Given the description of an element on the screen output the (x, y) to click on. 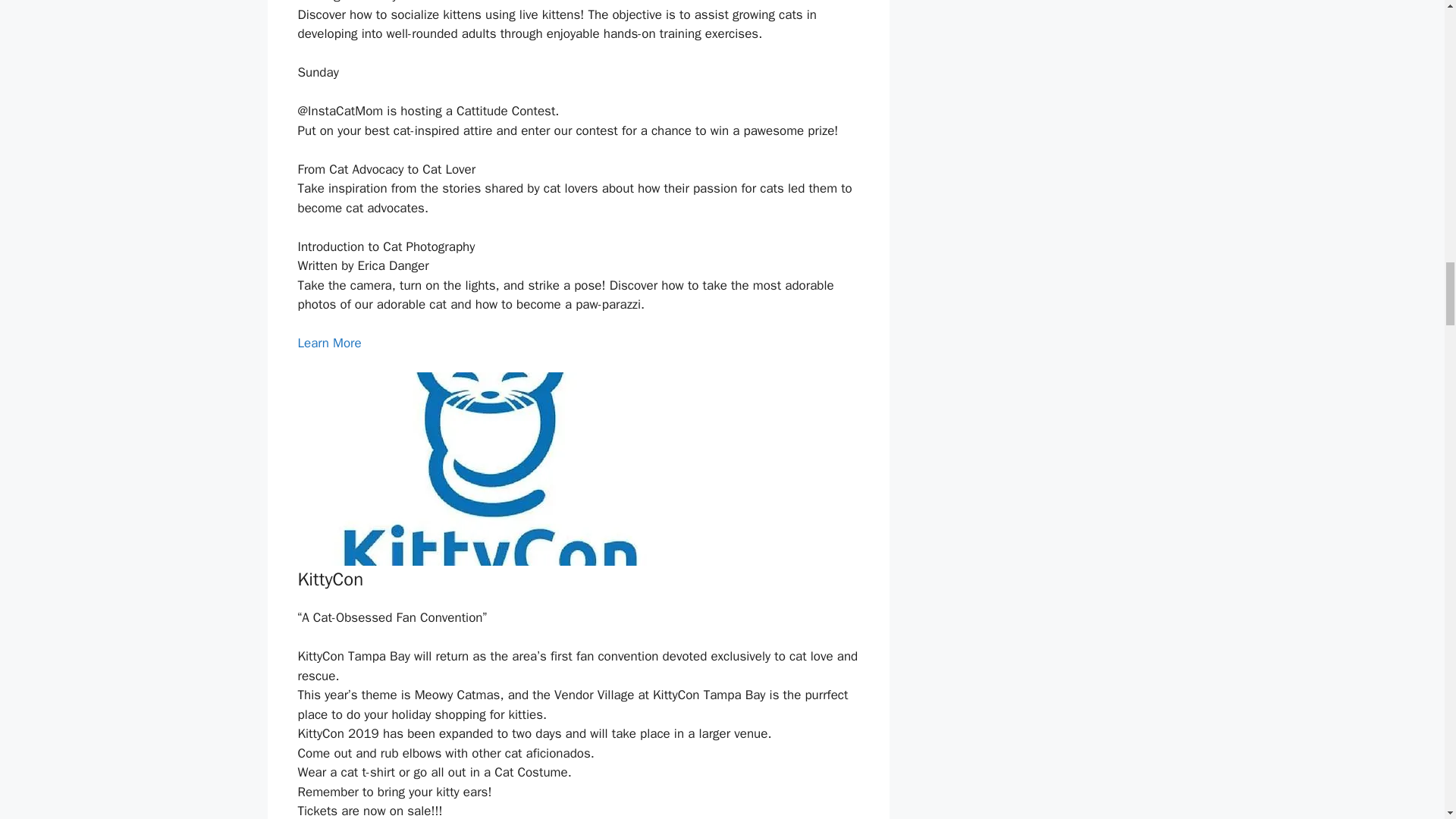
Learn More (329, 342)
